Given the description of an element on the screen output the (x, y) to click on. 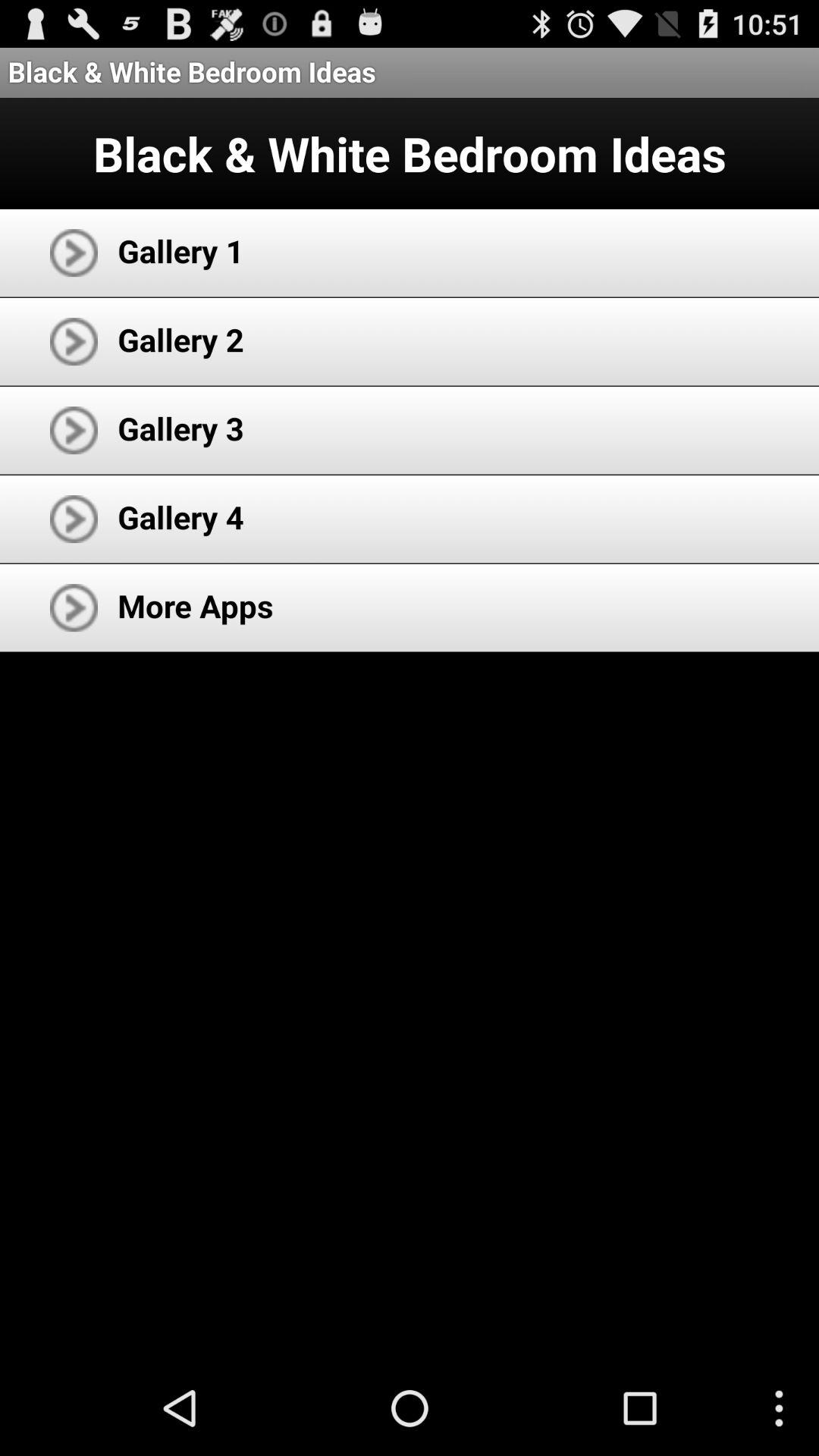
swipe until the gallery 1 icon (180, 250)
